Given the description of an element on the screen output the (x, y) to click on. 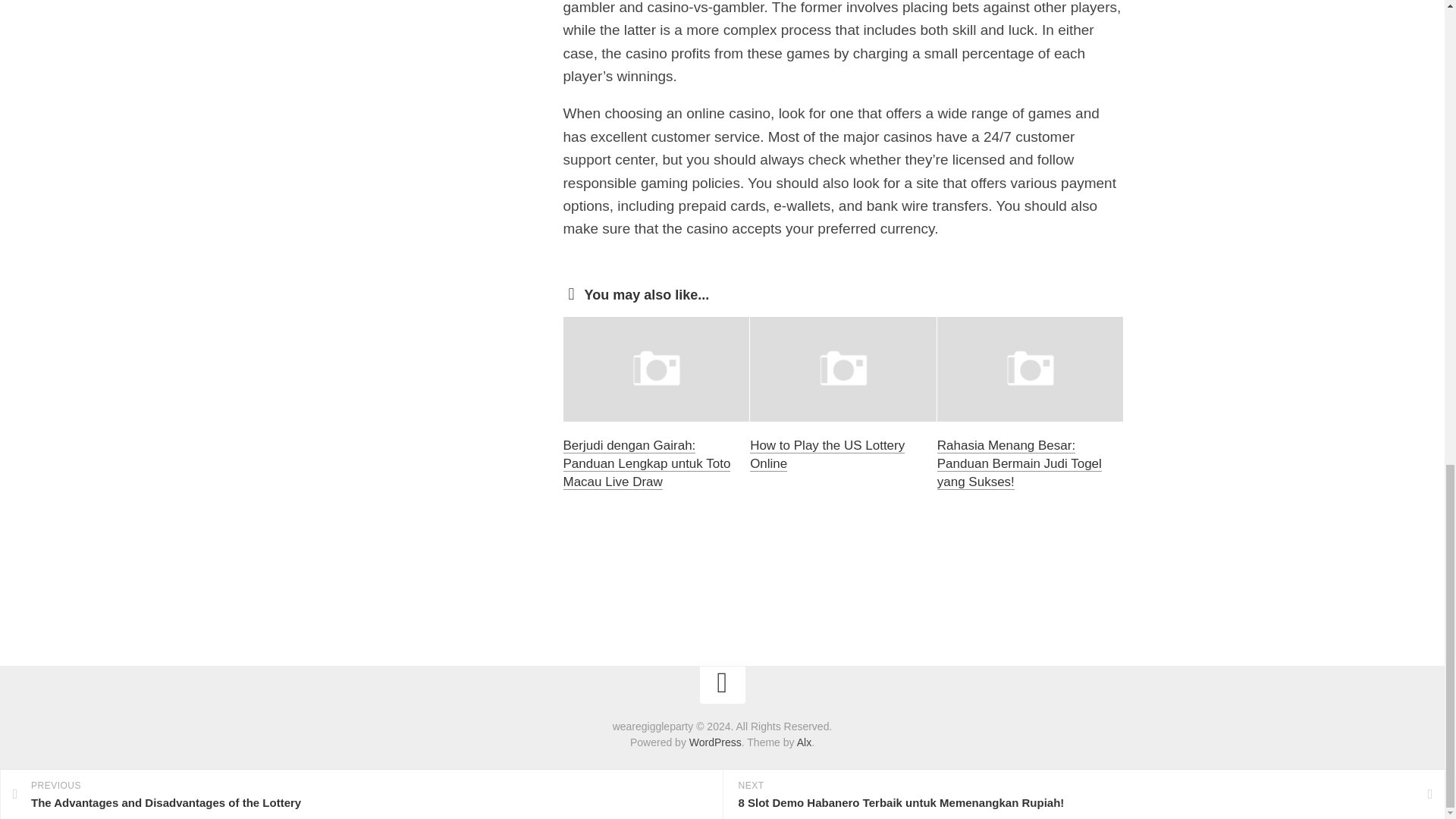
How to Play the US Lottery Online (826, 454)
WordPress (714, 742)
Alx (803, 742)
